Given the description of an element on the screen output the (x, y) to click on. 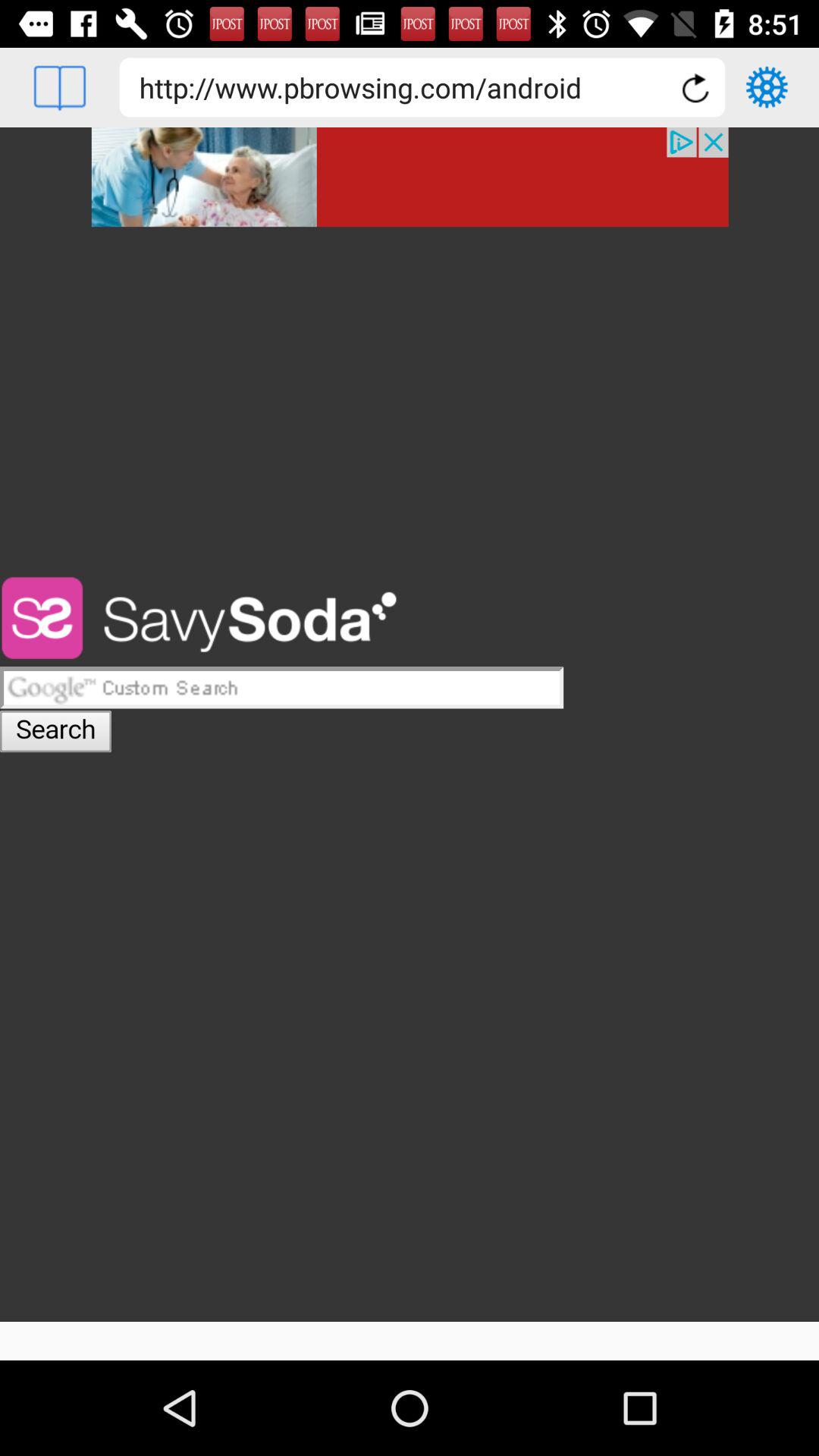
choose settings (766, 87)
